Given the description of an element on the screen output the (x, y) to click on. 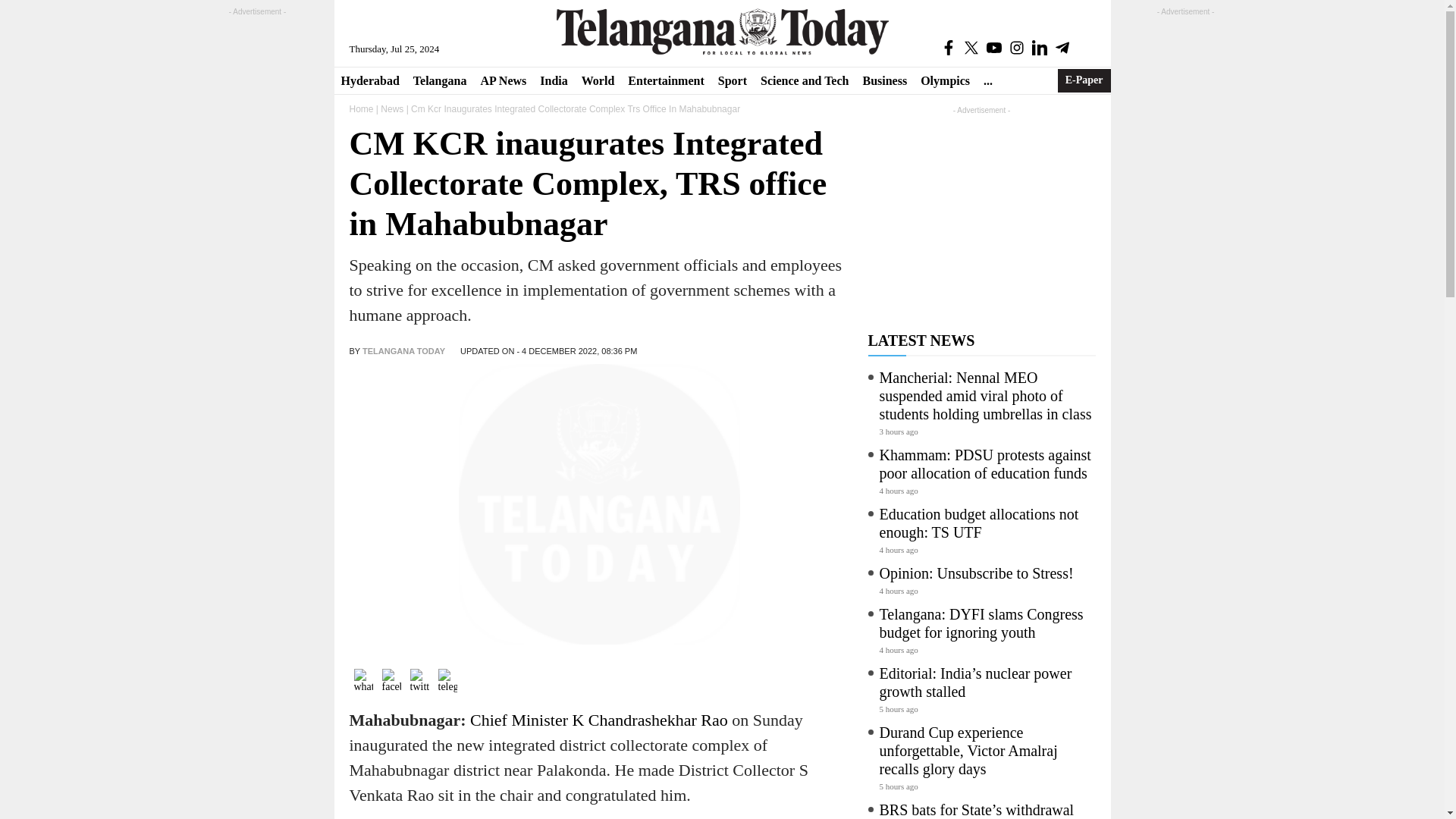
Olympics (945, 80)
Olympics (945, 80)
World (598, 80)
News (391, 109)
Entertainment (665, 80)
India (552, 80)
Science and Tech (805, 80)
E-Paper (1084, 80)
... (987, 80)
Business (885, 80)
India (552, 80)
AP News (502, 80)
Hyderabad (369, 80)
Sport (732, 80)
Science and Tech (805, 80)
